Given the description of an element on the screen output the (x, y) to click on. 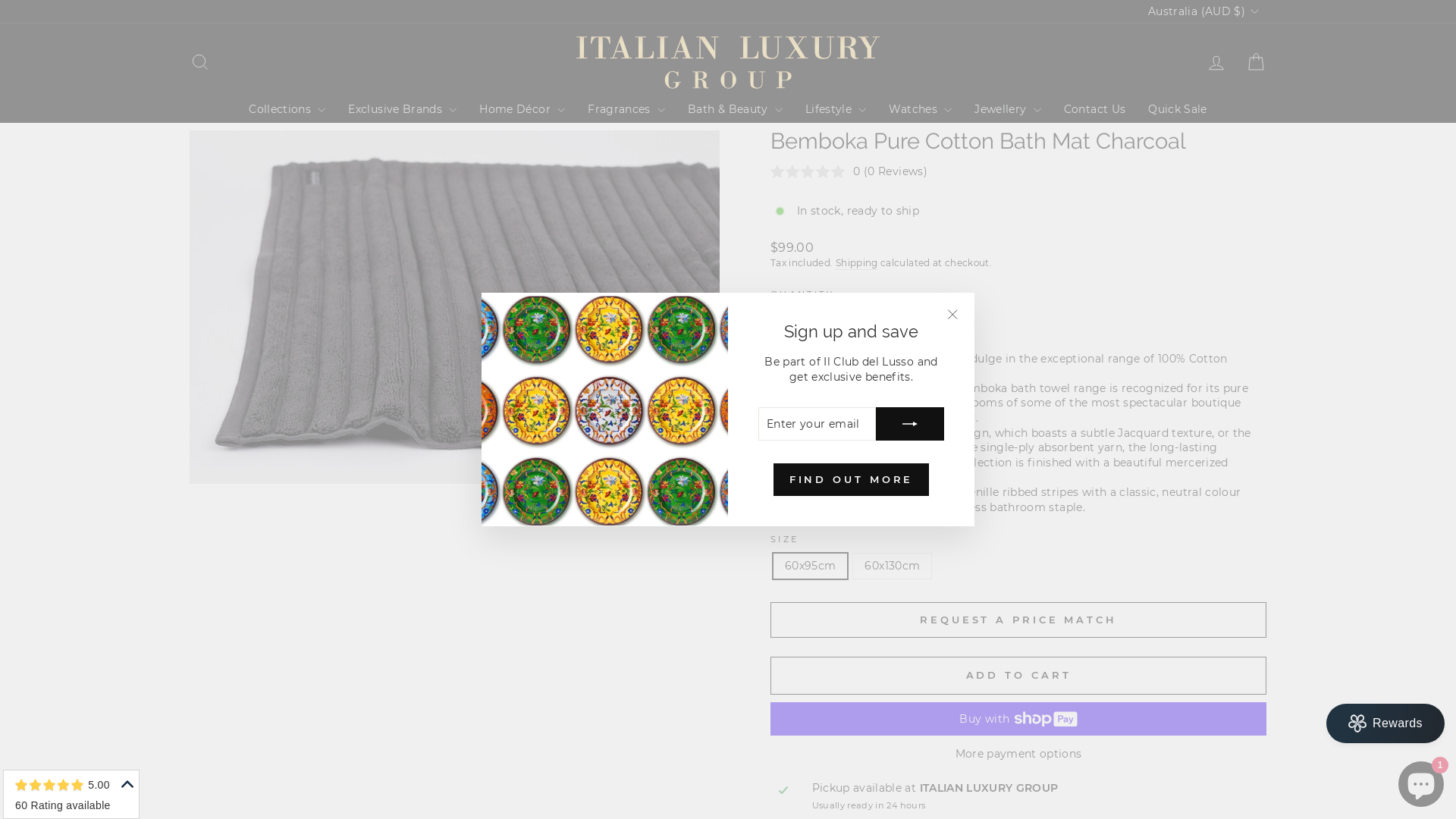
More payment options Element type: text (1018, 754)
ADD TO CART Element type: text (1018, 675)
icon-search
Search Element type: text (199, 62)
Contact Us Element type: text (1094, 109)
Shipping Element type: text (856, 263)
+ Element type: text (819, 320)
Australia (AUD $) Element type: text (1201, 11)
Cart Element type: text (1255, 62)
FIND OUT MORE Element type: text (851, 479)
icon-X
"Close (esc)" Element type: text (952, 314)
Rewards Element type: text (1385, 723)
Quick Sale Element type: text (1177, 109)
Shopify online store chat Element type: hover (1420, 780)
account
Log in Element type: text (1216, 62)
REQUEST A PRICE MATCH Element type: text (1018, 619)
